Given the description of an element on the screen output the (x, y) to click on. 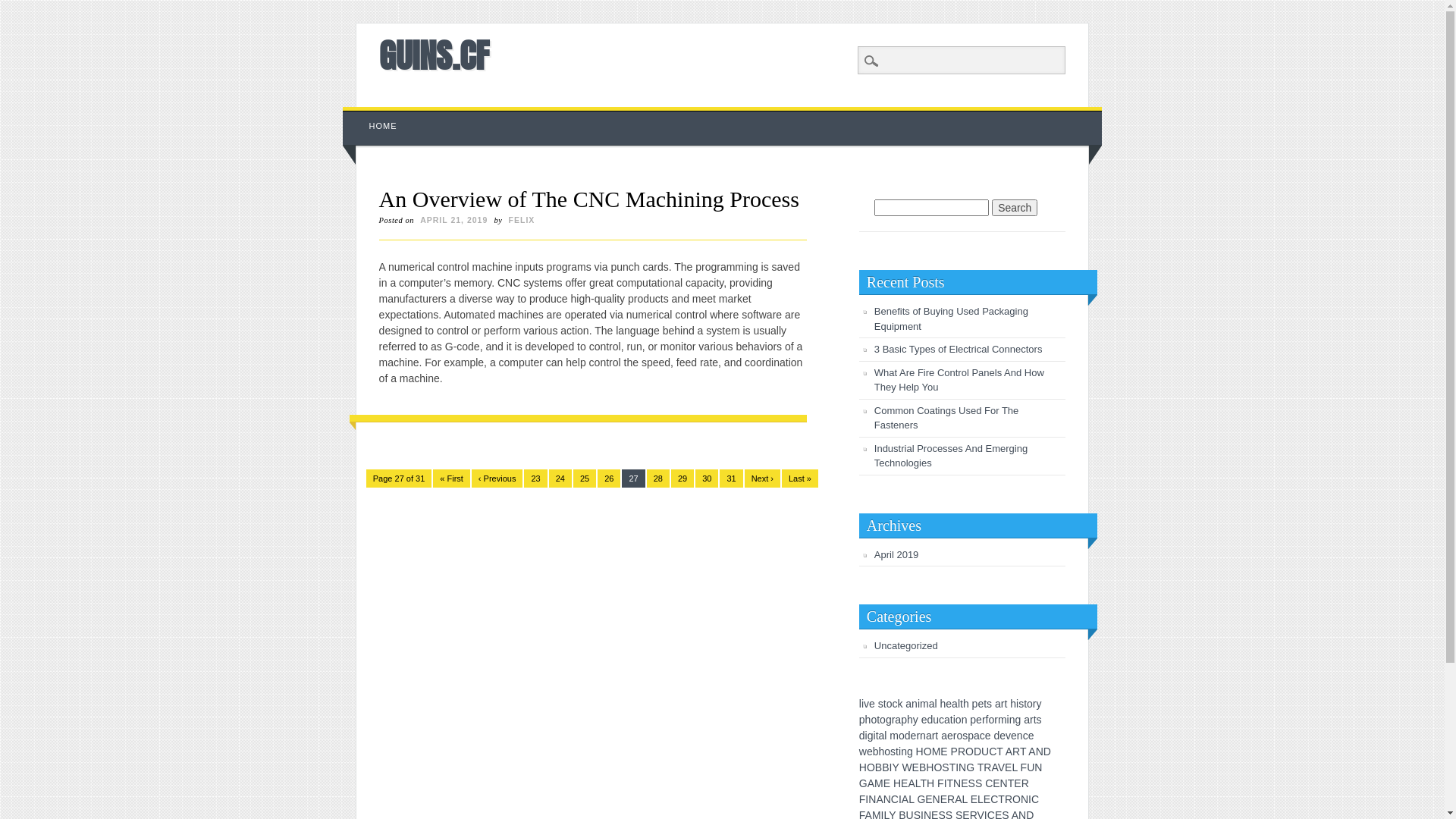
T Element type: text (1000, 799)
Uncategorized Element type: text (906, 645)
a Element type: text (881, 735)
t Element type: text (951, 719)
P Element type: text (953, 751)
a Element type: text (944, 735)
t Element type: text (1034, 719)
E Element type: text (1016, 783)
s Element type: text (1038, 719)
u Element type: text (935, 719)
B Element type: text (922, 767)
e Element type: text (1013, 735)
B Element type: text (878, 767)
p Element type: text (862, 719)
s Element type: text (988, 703)
e Element type: text (869, 751)
E Element type: text (973, 799)
R Element type: text (1025, 783)
p Element type: text (975, 703)
e Element type: text (988, 735)
N Element type: text (887, 799)
h Element type: text (1013, 703)
Search Element type: text (22, 8)
d Element type: text (929, 719)
29 Element type: text (682, 478)
HOME Element type: text (383, 125)
a Element type: text (908, 703)
g Element type: text (909, 751)
d Element type: text (907, 735)
o Element type: text (1029, 703)
h Element type: text (881, 751)
R Element type: text (987, 767)
Benefits of Buying Used Packaging Equipment Element type: text (951, 318)
i Element type: text (954, 719)
A Element type: text (994, 767)
FELIX Element type: text (522, 219)
m Element type: text (1002, 719)
h Element type: text (943, 703)
i Element type: text (862, 703)
r Element type: text (983, 719)
t Element type: text (1005, 703)
25 Element type: text (584, 478)
l Element type: text (885, 735)
n Element type: text (964, 719)
l Element type: text (958, 703)
t Element type: text (984, 703)
o Element type: text (873, 719)
Y Element type: text (894, 767)
e Element type: text (924, 719)
I Element type: text (889, 767)
r Element type: text (1002, 703)
t Element type: text (884, 703)
t Element type: text (1024, 703)
E Element type: text (995, 783)
V Element type: text (1000, 767)
d Element type: text (996, 735)
D Element type: text (1047, 751)
r Element type: text (1034, 703)
T Element type: text (980, 767)
i Element type: text (899, 751)
n Element type: text (914, 703)
r Element type: text (893, 719)
L Element type: text (964, 799)
24 Element type: text (560, 478)
t Element type: text (961, 703)
G Element type: text (863, 783)
e Element type: text (1031, 735)
p Element type: text (903, 719)
E Element type: text (928, 799)
C Element type: text (988, 783)
N Element type: text (1024, 799)
r Element type: text (917, 735)
e Element type: text (978, 719)
a Element type: text (954, 703)
I Element type: text (866, 799)
g Element type: text (888, 719)
n Element type: text (903, 751)
O Element type: text (937, 767)
N Element type: text (871, 799)
I Element type: text (1029, 799)
L Element type: text (980, 799)
L Element type: text (917, 783)
A Element type: text (1031, 751)
O Element type: text (969, 751)
N Element type: text (936, 799)
I Element type: text (899, 799)
r Element type: text (955, 735)
U Element type: text (1030, 767)
L Element type: text (1013, 767)
r Element type: text (933, 735)
23 Element type: text (535, 478)
I Element type: text (945, 783)
26 Element type: text (608, 478)
E Element type: text (915, 767)
T Element type: text (1022, 751)
e Element type: text (1002, 735)
n Element type: text (1012, 719)
C Element type: text (894, 799)
A Element type: text (870, 783)
h Element type: text (966, 703)
Search Element type: text (1014, 207)
l Element type: text (935, 703)
D Element type: text (977, 751)
e Element type: text (980, 703)
F Element type: text (940, 783)
F Element type: text (862, 799)
E Element type: text (886, 783)
e Element type: text (913, 735)
v Element type: text (866, 703)
f Element type: text (986, 719)
o Element type: text (889, 703)
o Element type: text (958, 719)
y Element type: text (915, 719)
o Element type: text (901, 735)
R Element type: text (1008, 799)
a Element type: text (897, 719)
E Element type: text (943, 751)
a Element type: text (928, 735)
N Element type: text (1003, 783)
t Element type: text (877, 719)
N Element type: text (956, 783)
T Element type: text (950, 783)
28 Element type: text (657, 478)
April 2019 Element type: text (896, 554)
R Element type: text (950, 799)
l Element type: text (860, 703)
30 Element type: text (706, 478)
o Element type: text (882, 719)
H Element type: text (930, 783)
H Element type: text (919, 751)
Skip to content Element type: text (377, 114)
T Element type: text (1010, 783)
h Element type: text (868, 719)
c Element type: text (1025, 735)
m Element type: text (923, 703)
k Element type: text (899, 703)
S Element type: text (978, 783)
N Element type: text (1039, 751)
y Element type: text (1038, 703)
a Element type: text (931, 703)
a Element type: text (947, 719)
N Element type: text (962, 767)
H Element type: text (929, 767)
T Element type: text (999, 751)
i Element type: text (874, 735)
g Element type: text (1018, 719)
R Element type: text (1015, 751)
n Element type: text (922, 735)
G Element type: text (920, 799)
T Element type: text (952, 767)
C Element type: text (992, 751)
E Element type: text (1007, 767)
S Element type: text (944, 767)
T Element type: text (923, 783)
O Element type: text (927, 751)
a Element type: text (976, 735)
N Element type: text (1037, 767)
p Element type: text (970, 735)
M Element type: text (936, 751)
s Element type: text (1020, 703)
H Element type: text (862, 767)
A Element type: text (957, 799)
e Element type: text (948, 703)
An Overview of The CNC Machining Process Element type: text (589, 198)
e Element type: text (872, 703)
h Element type: text (909, 719)
i Element type: text (1017, 703)
3 Basic Types of Electrical Connectors Element type: text (958, 348)
c Element type: text (982, 735)
a Element type: text (1026, 719)
i Element type: text (866, 735)
s Element type: text (892, 751)
r Element type: text (995, 719)
v Element type: text (1007, 735)
s Element type: text (880, 703)
c Element type: text (894, 703)
m Element type: text (893, 735)
n Element type: text (1019, 735)
t Element type: text (896, 751)
i Element type: text (918, 703)
F Element type: text (1023, 767)
W Element type: text (906, 767)
I Element type: text (956, 767)
c Element type: text (941, 719)
E Element type: text (903, 783)
g Element type: text (870, 735)
E Element type: text (963, 783)
A Element type: text (904, 799)
d Element type: text (862, 735)
o Element type: text (887, 751)
B Element type: text (884, 767)
o Element type: text (991, 719)
Common Coatings Used For The Fasteners Element type: text (946, 417)
L Element type: text (910, 799)
APRIL 21, 2019 Element type: text (453, 219)
O Element type: text (1016, 799)
Industrial Processes And Emerging Technologies Element type: text (950, 455)
What Are Fire Control Panels And How They Help You Element type: text (959, 380)
M Element type: text (878, 783)
A Element type: text (1008, 751)
H Element type: text (896, 783)
a Element type: text (997, 703)
t Element type: text (936, 735)
A Element type: text (878, 799)
O Element type: text (870, 767)
e Element type: text (950, 735)
E Element type: text (943, 799)
R Element type: text (961, 751)
r Element type: text (1031, 719)
GUINS.CF Element type: text (434, 55)
o Element type: text (959, 735)
U Element type: text (984, 751)
s Element type: text (964, 735)
A Element type: text (910, 783)
b Element type: text (875, 751)
p Element type: text (972, 719)
C Element type: text (1034, 799)
i Element type: text (1008, 719)
31 Element type: text (730, 478)
w Element type: text (862, 751)
S Element type: text (971, 783)
E Element type: text (986, 799)
t Element type: text (876, 735)
G Element type: text (970, 767)
C Element type: text (993, 799)
